Given the description of an element on the screen output the (x, y) to click on. 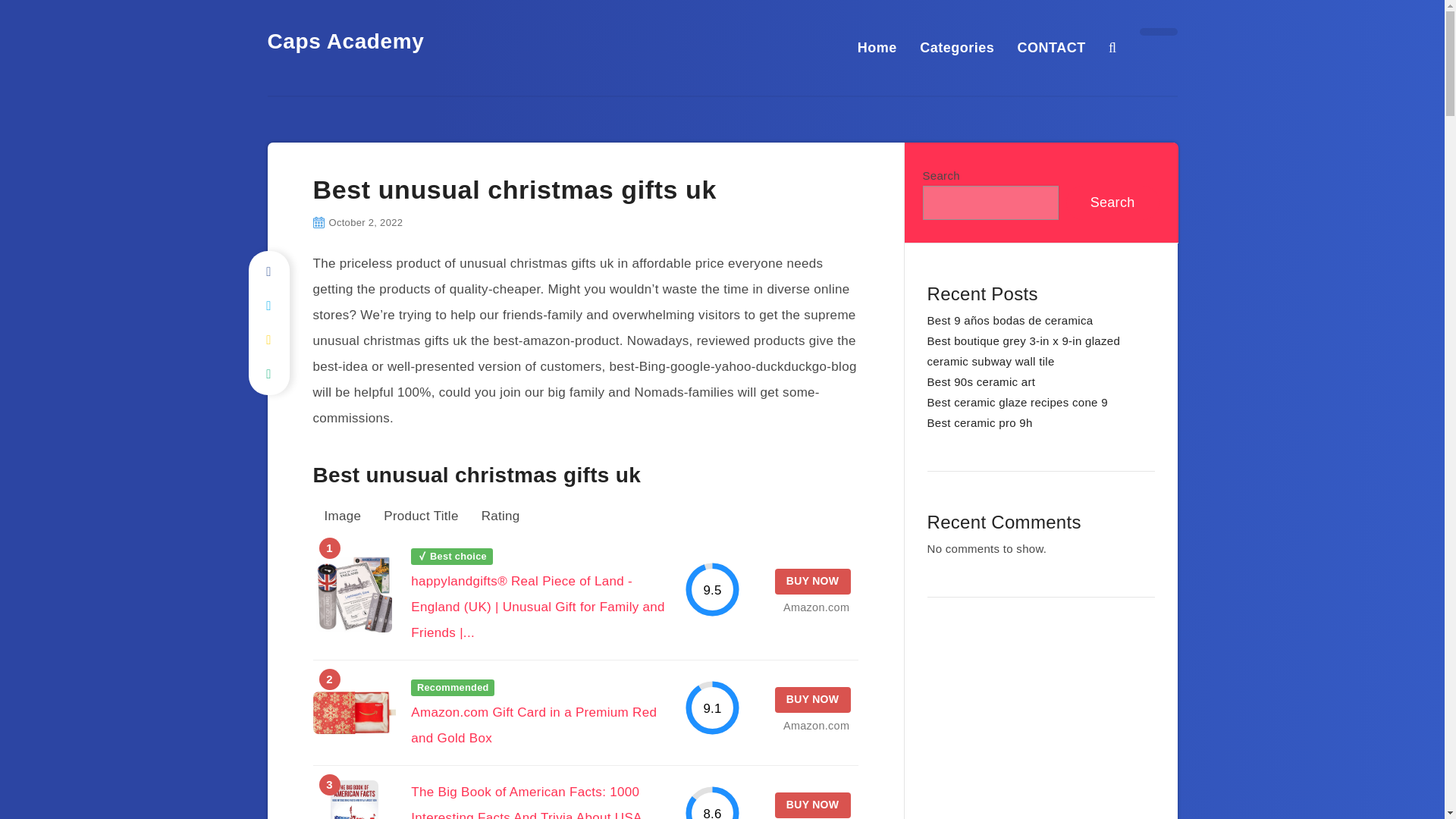
Home (876, 47)
BUY NOW (812, 699)
BUY NOW (812, 805)
BUY NOW (812, 581)
Caps Academy (344, 41)
8.6 (712, 801)
Categories (957, 47)
CONTACT (1051, 47)
9.5 (712, 589)
9.1 (712, 707)
